Given the description of an element on the screen output the (x, y) to click on. 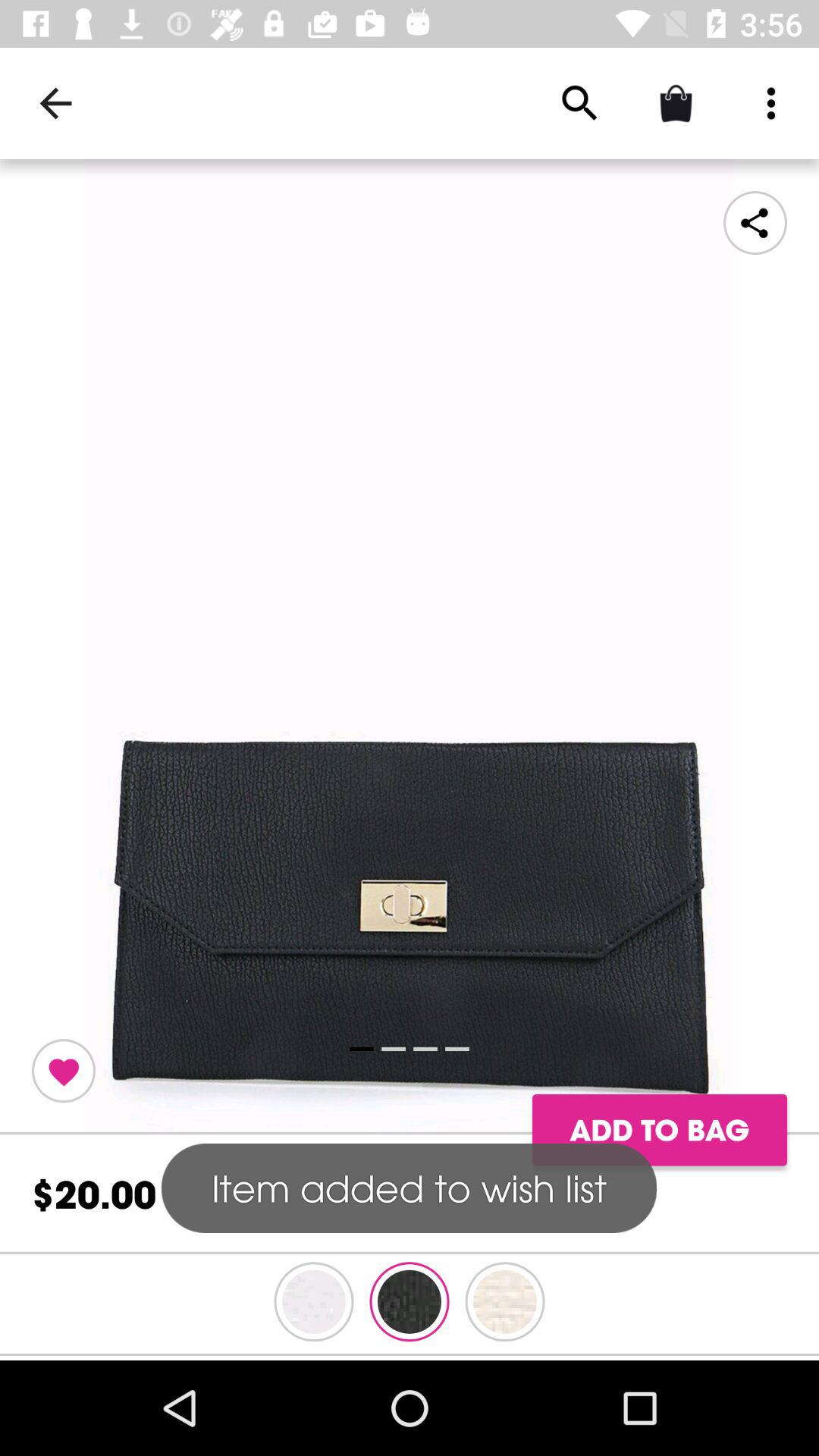
share this selection (755, 222)
